Given the description of an element on the screen output the (x, y) to click on. 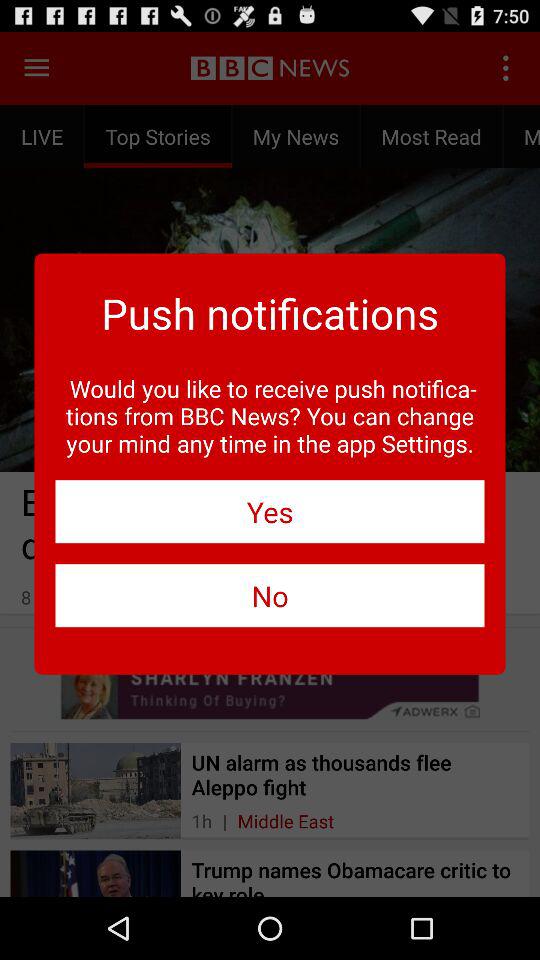
tap yes (269, 511)
